Given the description of an element on the screen output the (x, y) to click on. 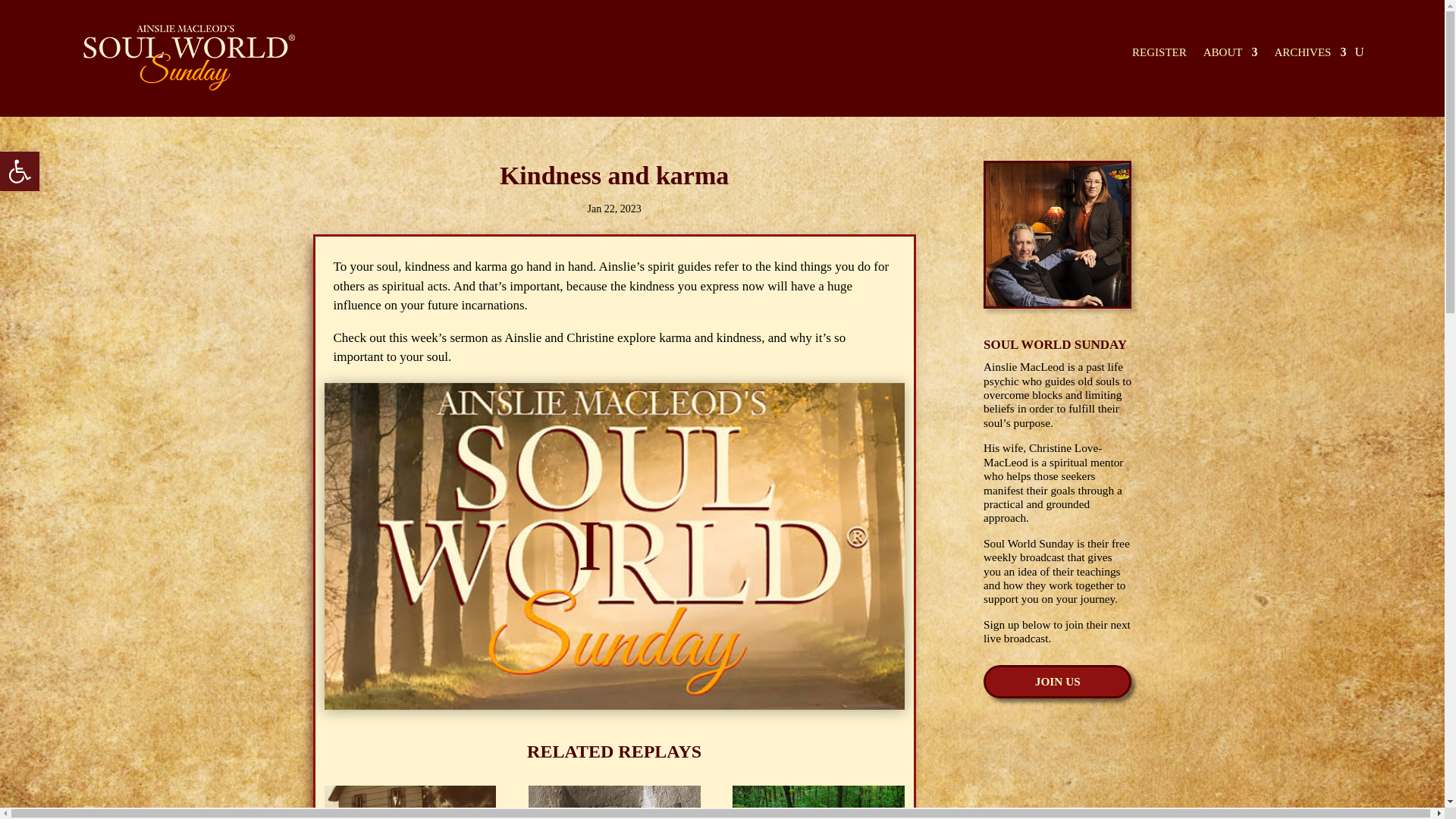
Soul World Sunday-logo (19, 170)
ARCHIVES (185, 58)
REGISTER (1309, 54)
Accessibility Tools (1159, 54)
JOIN US (19, 170)
Accessibility Tools (1057, 681)
ABOUT (19, 170)
